Given the description of an element on the screen output the (x, y) to click on. 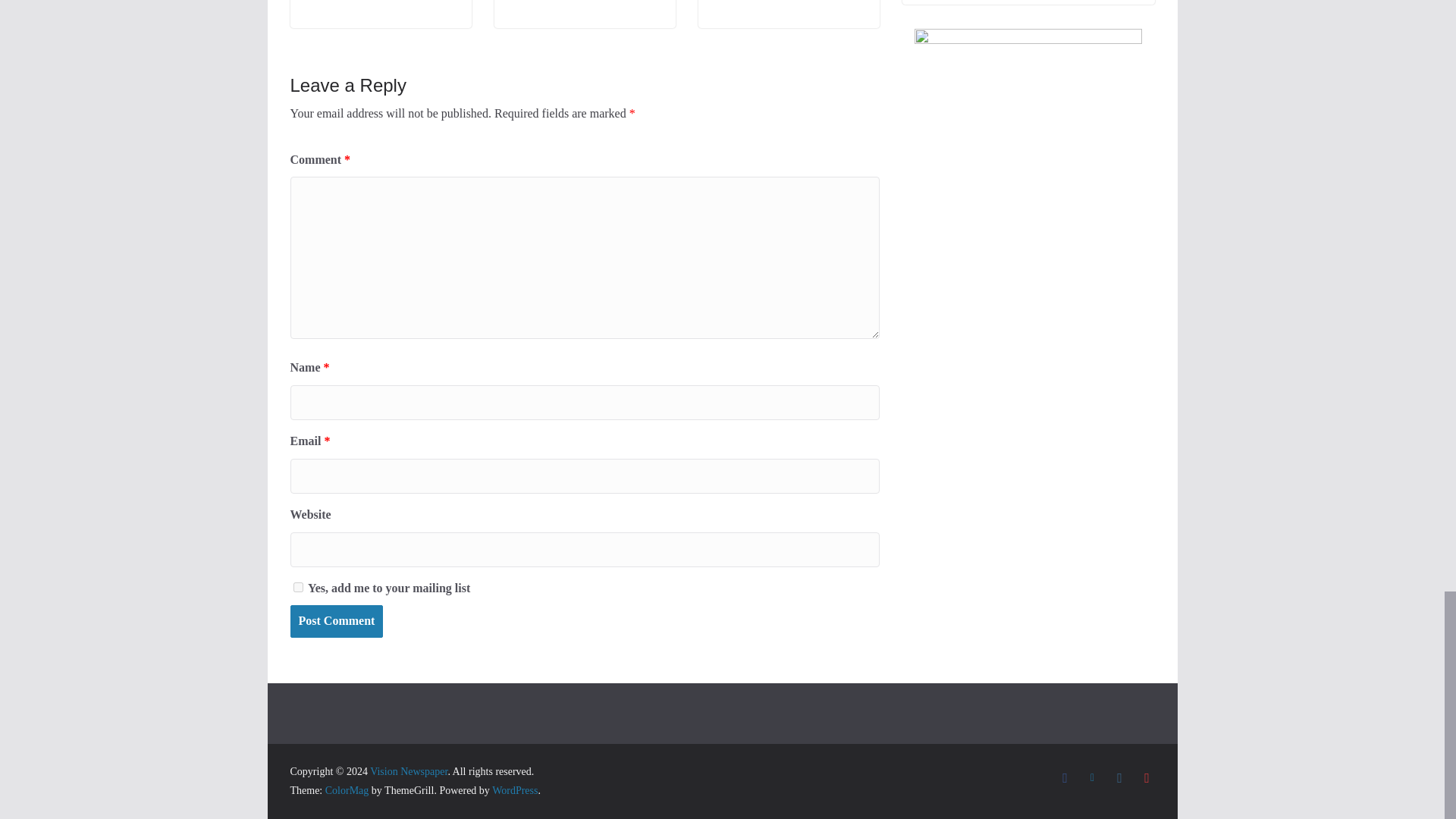
Post Comment (335, 621)
January 4, 2018 (748, 2)
1 (297, 587)
Post Comment (335, 621)
